Given the description of an element on the screen output the (x, y) to click on. 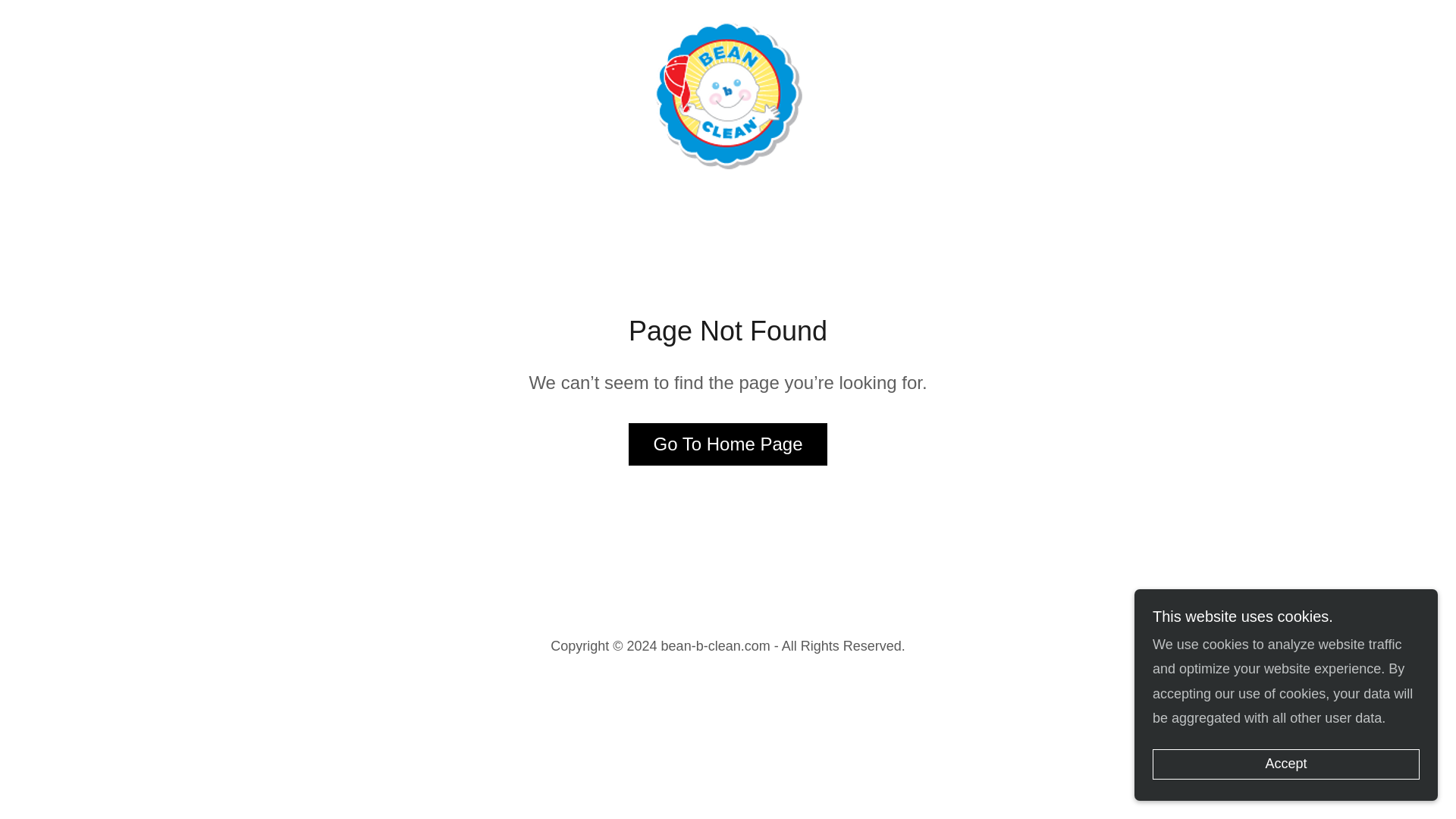
Go To Home Page (727, 444)
bean-b-clean.com (727, 92)
Accept (1286, 764)
